Given the description of an element on the screen output the (x, y) to click on. 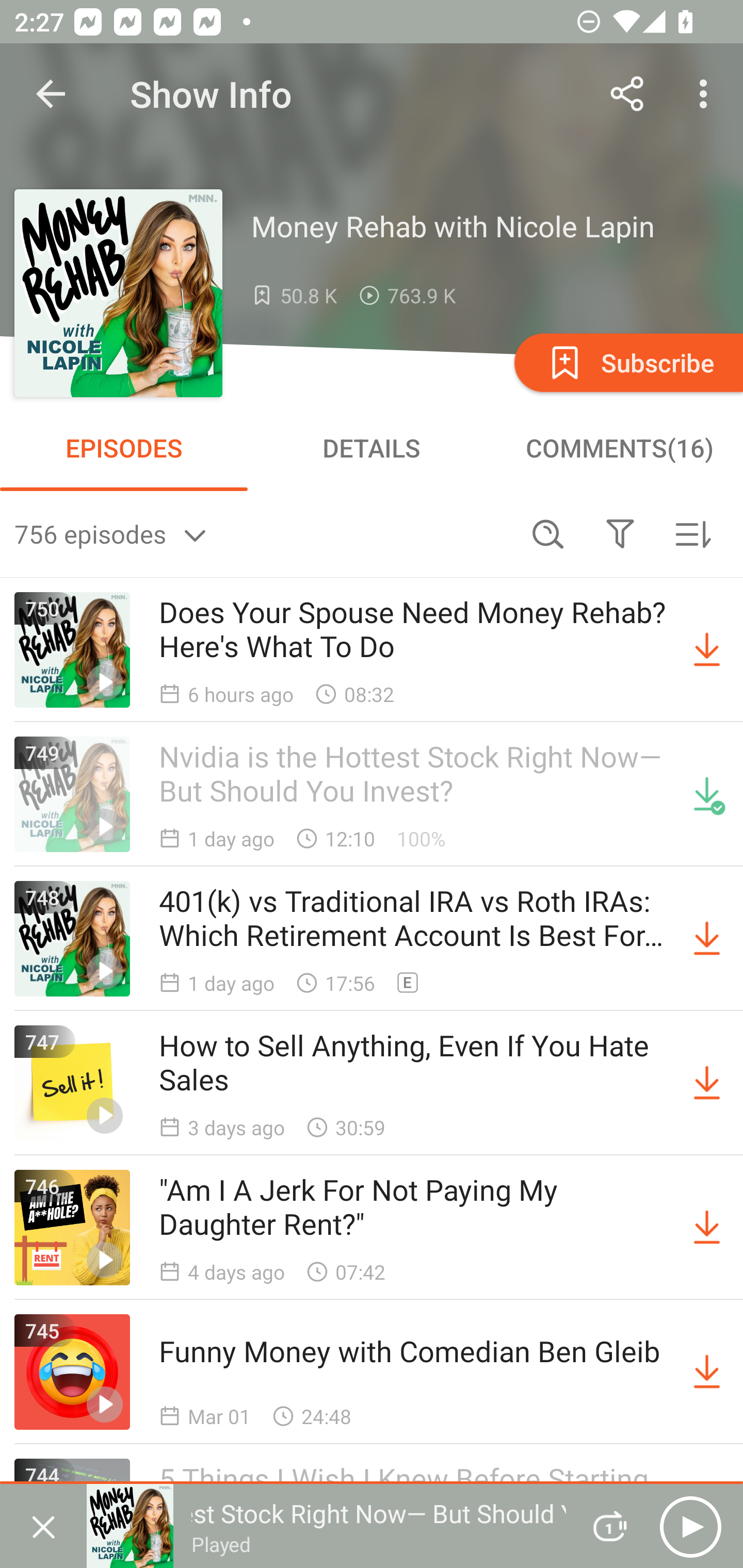
Navigate up (50, 93)
Share (626, 93)
More options (706, 93)
Subscribe (627, 361)
EPISODES (123, 447)
DETAILS (371, 447)
COMMENTS(16) (619, 447)
756 episodes  (262, 533)
 Search (547, 533)
 (619, 533)
 Sorted by newest first (692, 533)
Download (706, 649)
Downloaded (706, 793)
Download (706, 939)
Download (706, 1083)
Download (706, 1227)
Download (706, 1371)
Play (690, 1526)
